Given the description of an element on the screen output the (x, y) to click on. 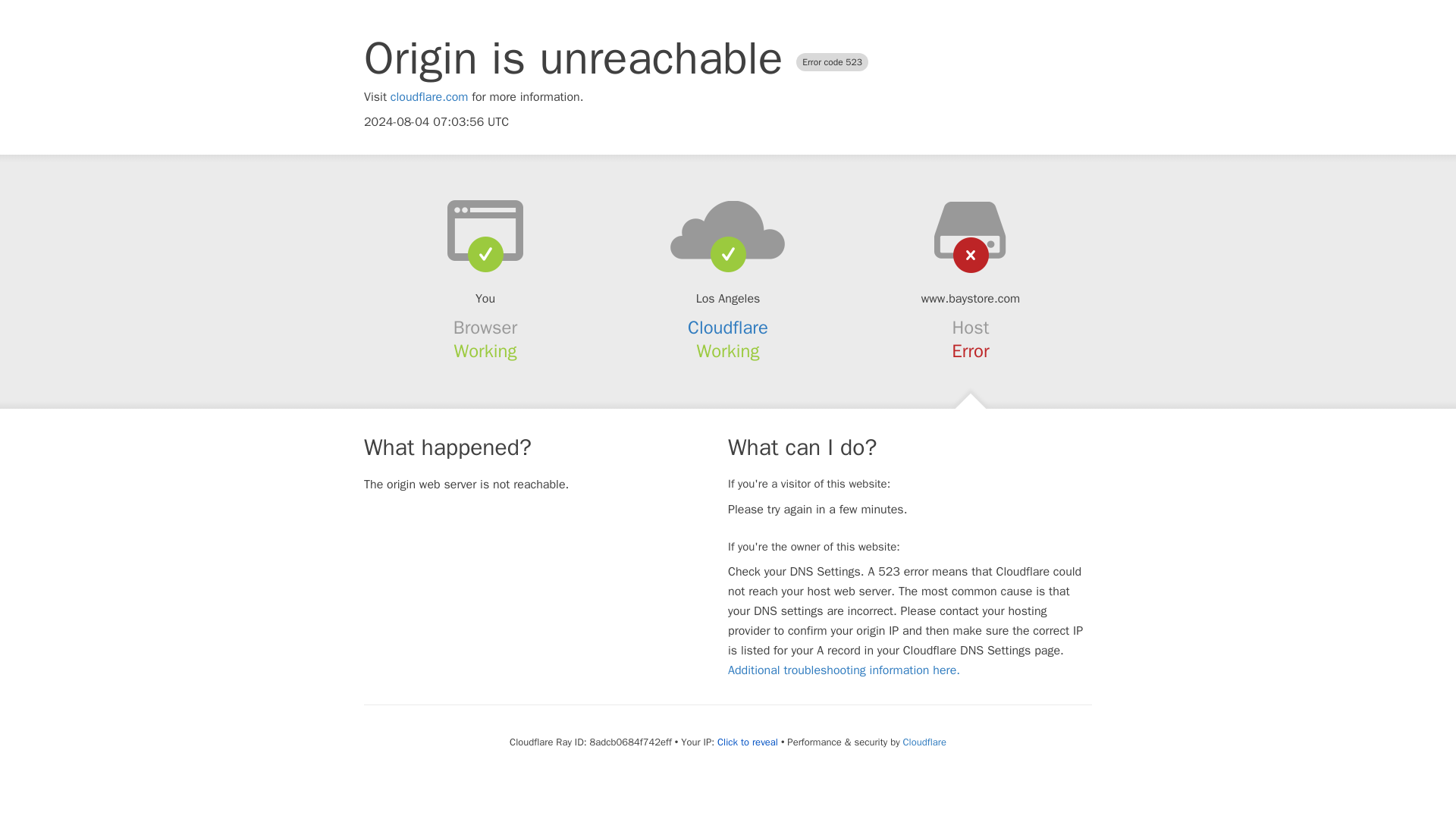
Cloudflare (727, 327)
Cloudflare (924, 741)
Additional troubleshooting information here. (843, 670)
cloudflare.com (429, 96)
Click to reveal (747, 742)
